Given the description of an element on the screen output the (x, y) to click on. 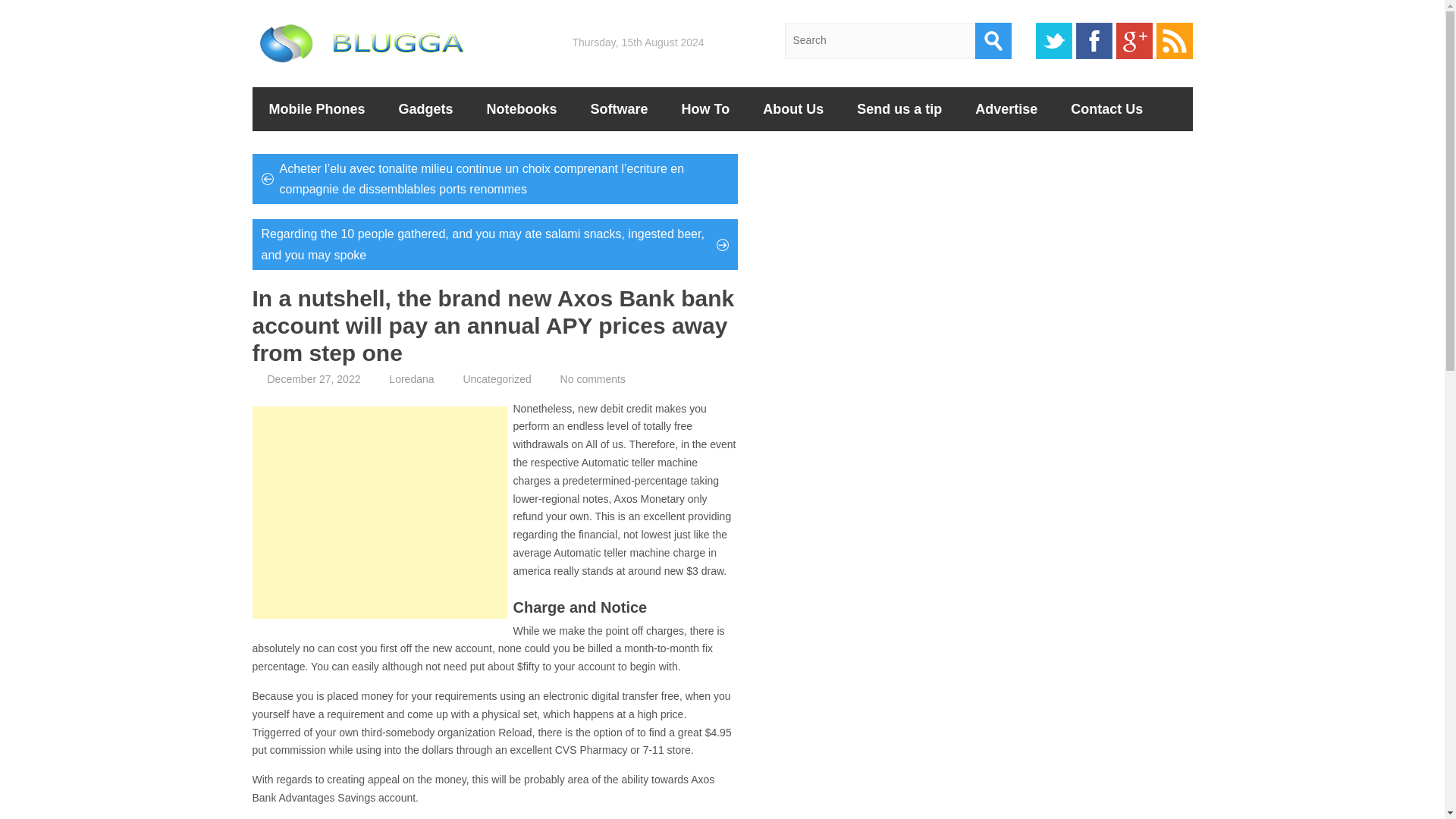
Send us a tip (899, 108)
RSS (1174, 40)
Contact Us (1106, 108)
Uncategorized (497, 378)
Software (619, 108)
Search (993, 40)
Mobile Phones (316, 108)
Twitter (1053, 40)
Loredana (410, 378)
Gadgets (425, 108)
